Given the description of an element on the screen output the (x, y) to click on. 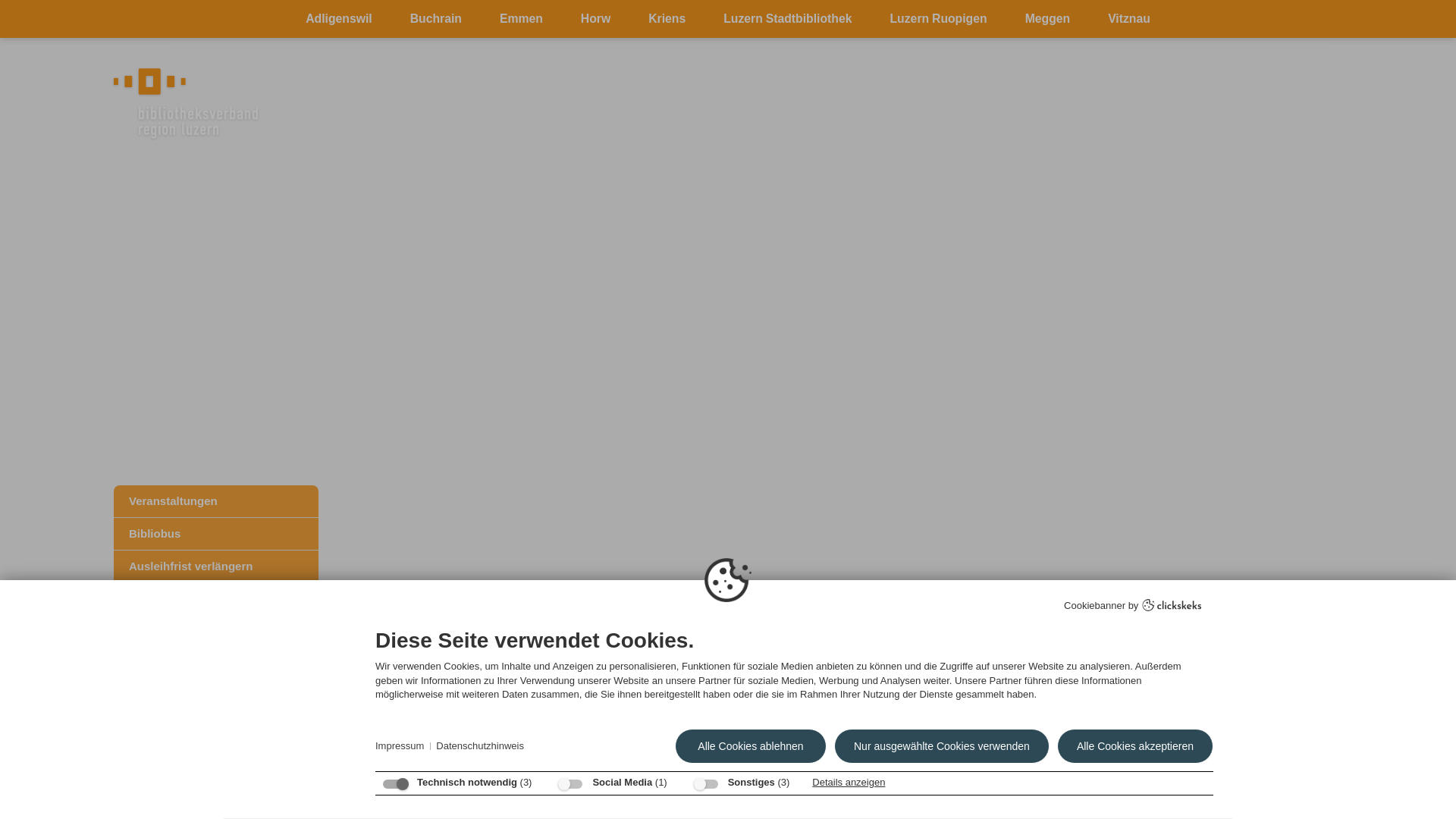
Impressum Element type: text (399, 746)
Bibliotheksverband Element type: text (215, 781)
Adligenswil Element type: text (338, 18)
Luzern Stadtbibliothek Element type: text (787, 18)
Abo bestellen Element type: text (215, 631)
Kriens Element type: text (666, 18)
Medien suchen und reservieren Element type: text (215, 599)
Veranstaltungen Element type: text (215, 501)
Clickskeks Logo Element type: text (1171, 607)
Details anzeigen Element type: text (848, 781)
Tageskarten Luzern Element type: text (215, 696)
Alle Cookies akzeptieren Element type: text (1135, 745)
Emmen Element type: text (520, 18)
Digitale Bibliothek Element type: text (215, 664)
Bibliobus Element type: text (215, 533)
Vitznau Element type: text (1128, 18)
Meggen Element type: text (1047, 18)
Datenschutzhinweis Element type: text (480, 746)
Horw Element type: text (595, 18)
Buchrain Element type: text (435, 18)
Luzern Ruopigen Element type: text (937, 18)
Alle Cookies ablehnen Element type: text (750, 745)
